Given the description of an element on the screen output the (x, y) to click on. 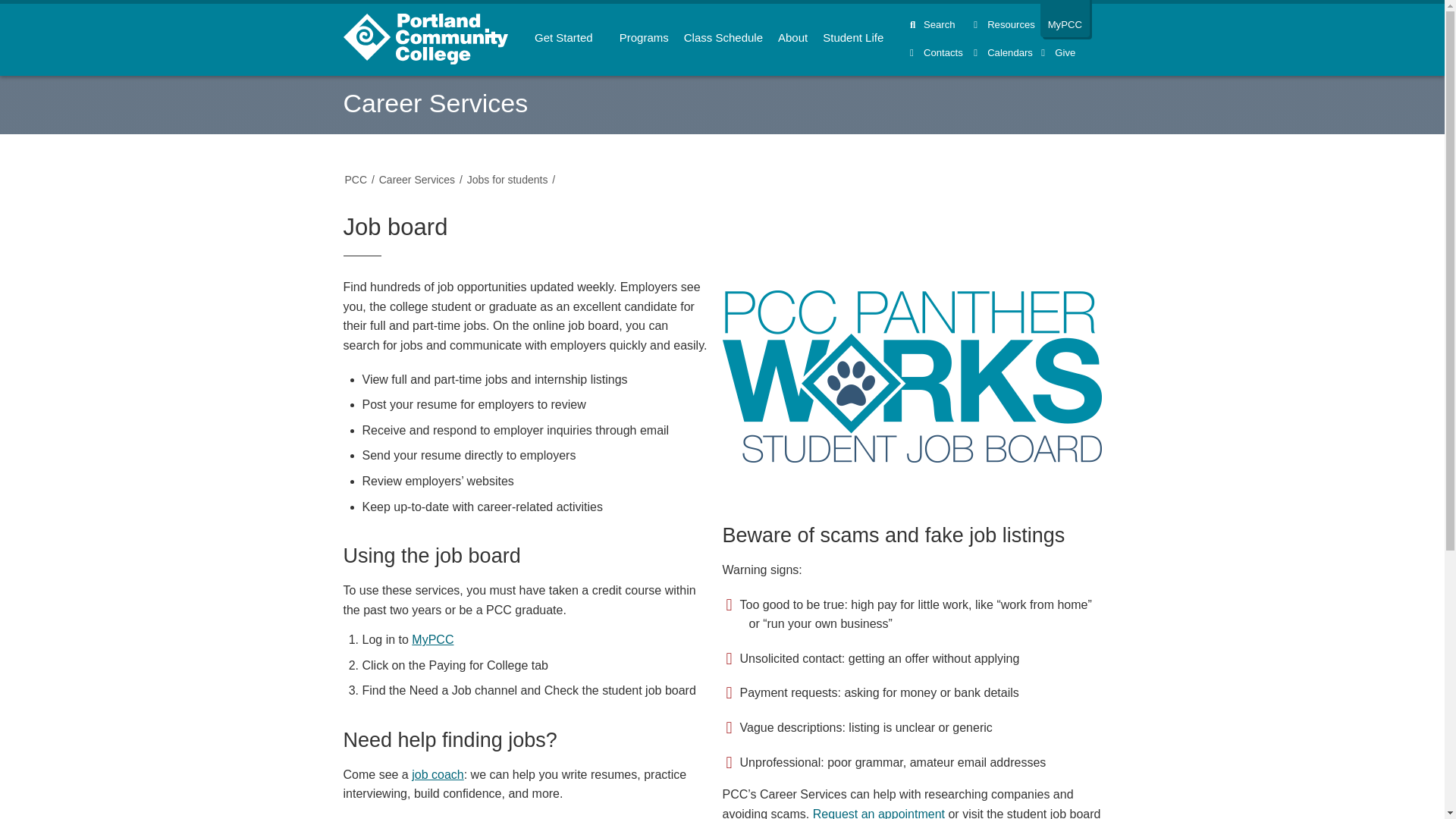
MyPCC (1065, 18)
Career Services (434, 102)
job coach (438, 774)
Career Services (417, 179)
Request an appointment (878, 813)
Give (1058, 52)
Resources (1005, 24)
Calendars (1005, 52)
MyPCC (432, 639)
Get Started (569, 40)
Class Schedule (723, 40)
Search (942, 24)
Jobs for students (507, 179)
Contacts (942, 52)
PCC (355, 179)
